Given the description of an element on the screen output the (x, y) to click on. 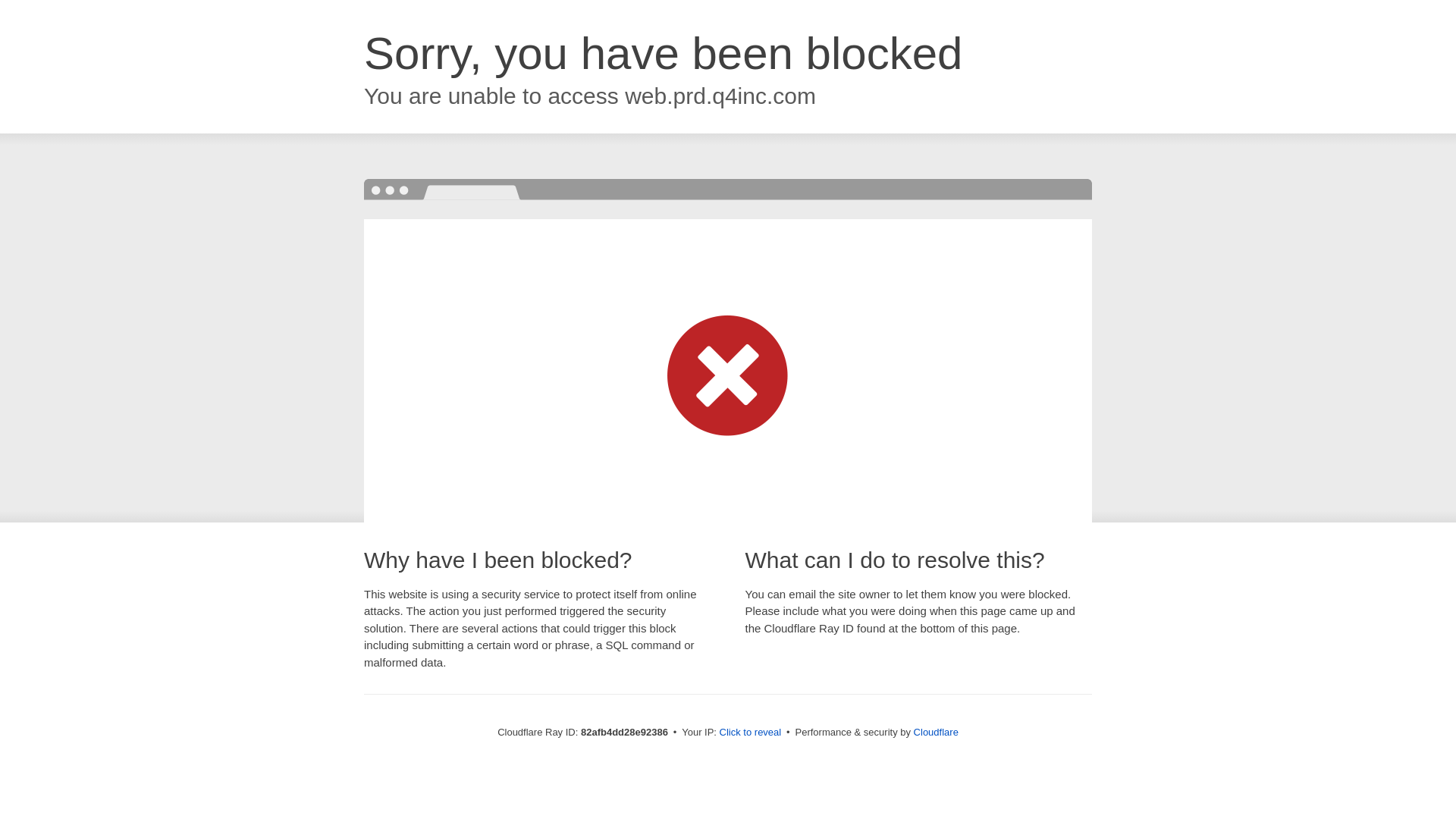
Cloudflare Element type: text (935, 731)
Click to reveal Element type: text (750, 732)
